Given the description of an element on the screen output the (x, y) to click on. 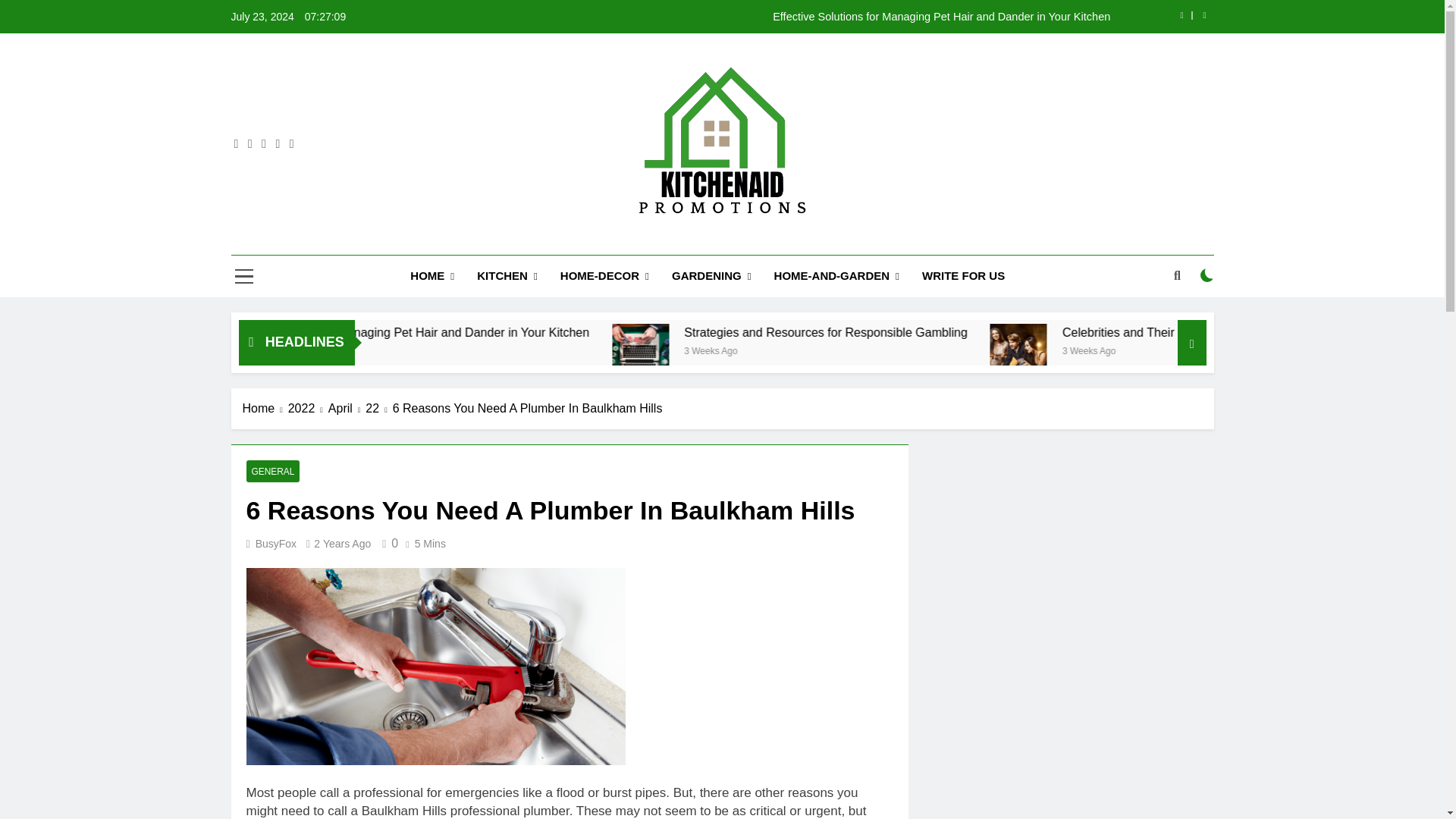
on (1206, 274)
Strategies and Resources for Responsible Gambling (772, 351)
GARDENING (711, 276)
Strategies and Resources for Responsible Gambling (774, 351)
Kitchenaid Promotions (649, 240)
HOME-DECOR (604, 276)
HOME (431, 276)
KITCHEN (506, 276)
